Given the description of an element on the screen output the (x, y) to click on. 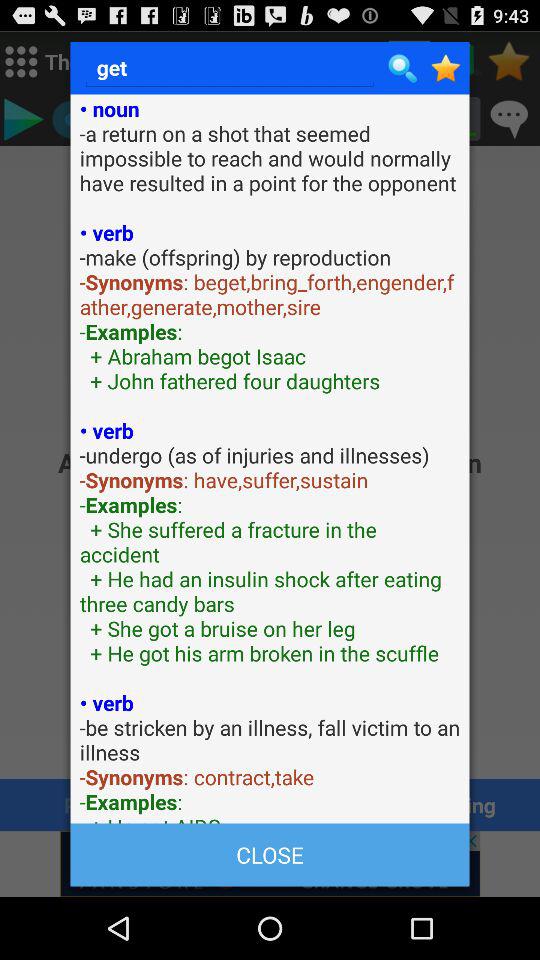
favorite the page (445, 67)
